Given the description of an element on the screen output the (x, y) to click on. 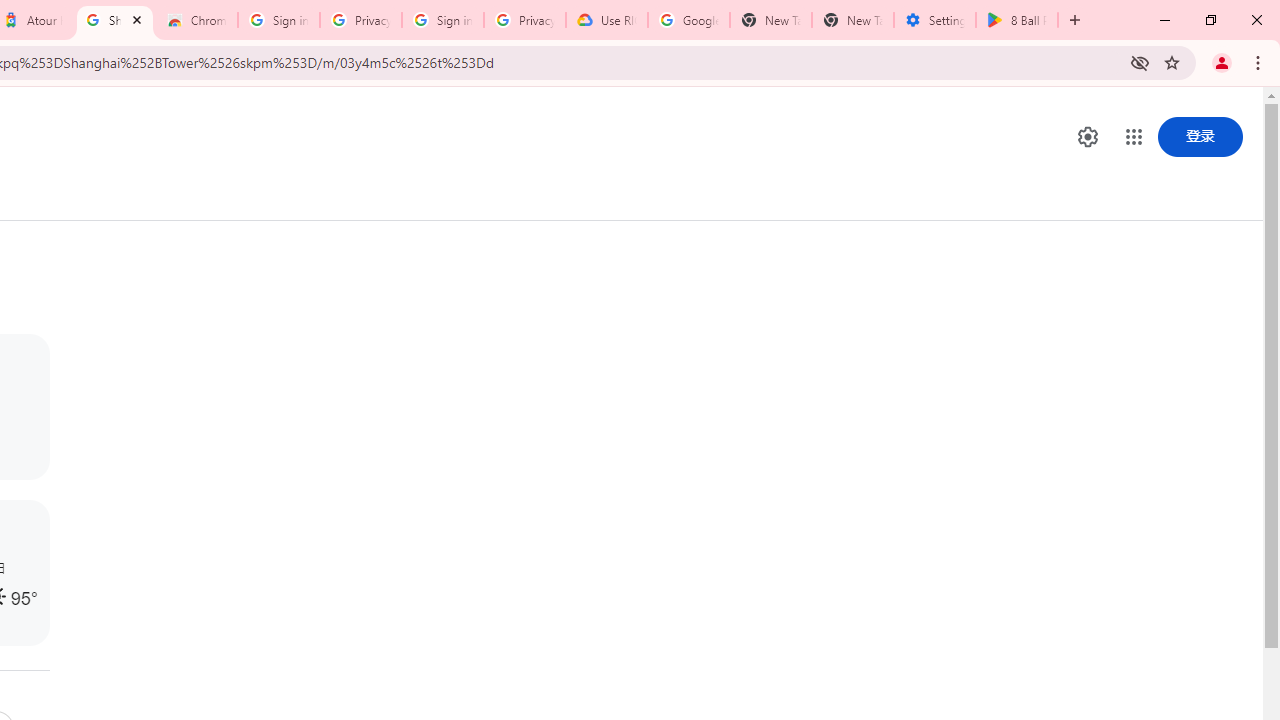
New Tab (852, 20)
Settings - System (934, 20)
Third-party cookies blocked (1139, 62)
Sign in - Google Accounts (442, 20)
8 Ball Pool - Apps on Google Play (1016, 20)
